Given the description of an element on the screen output the (x, y) to click on. 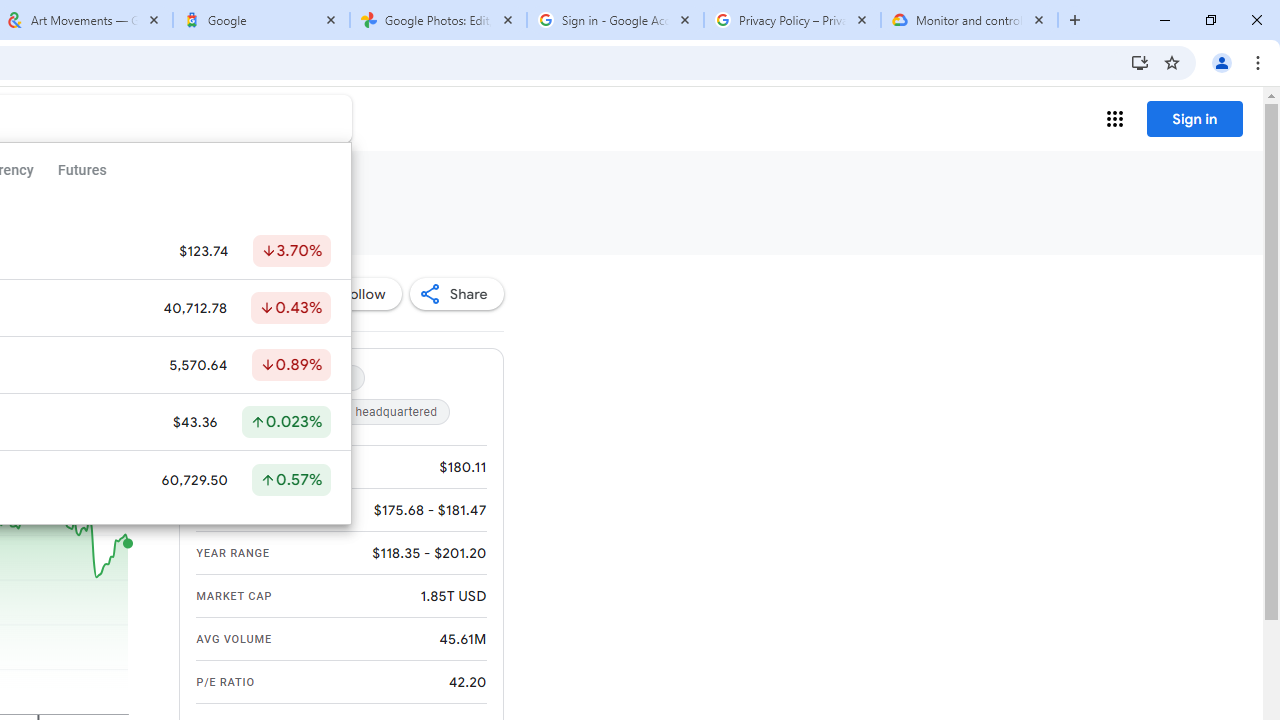
Install Google Finance (1139, 62)
